Given the description of an element on the screen output the (x, y) to click on. 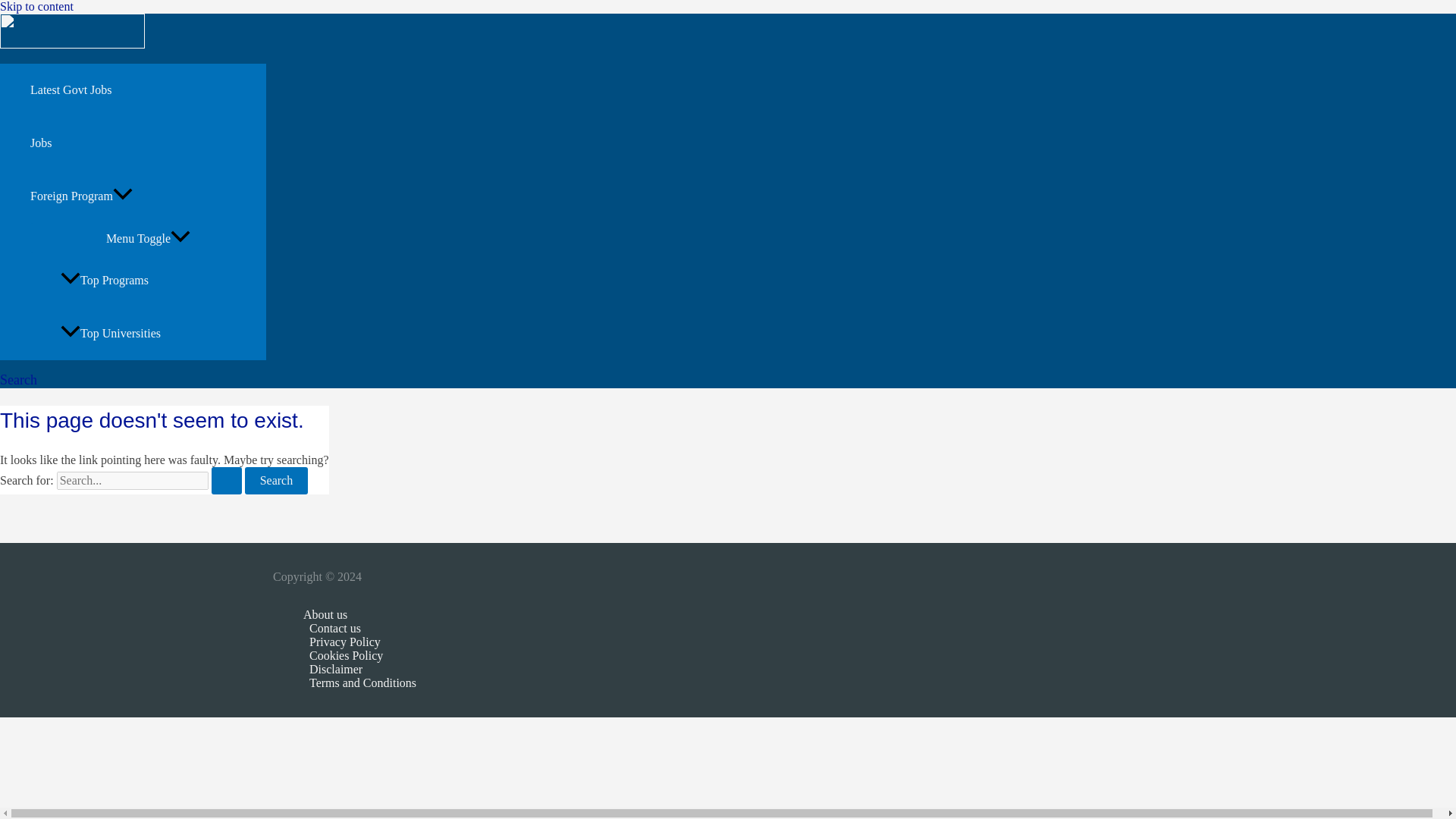
Search (276, 480)
Skip to content (37, 6)
Top Programs (163, 280)
Foreign Program (148, 195)
Contact us (359, 628)
Jobs (148, 143)
Top Universities (163, 333)
Disclaimer (359, 669)
Cookies Policy (359, 655)
Search (18, 380)
Menu Toggle (148, 237)
About us (359, 614)
Skip to content (37, 6)
Search (276, 480)
Search (276, 480)
